Given the description of an element on the screen output the (x, y) to click on. 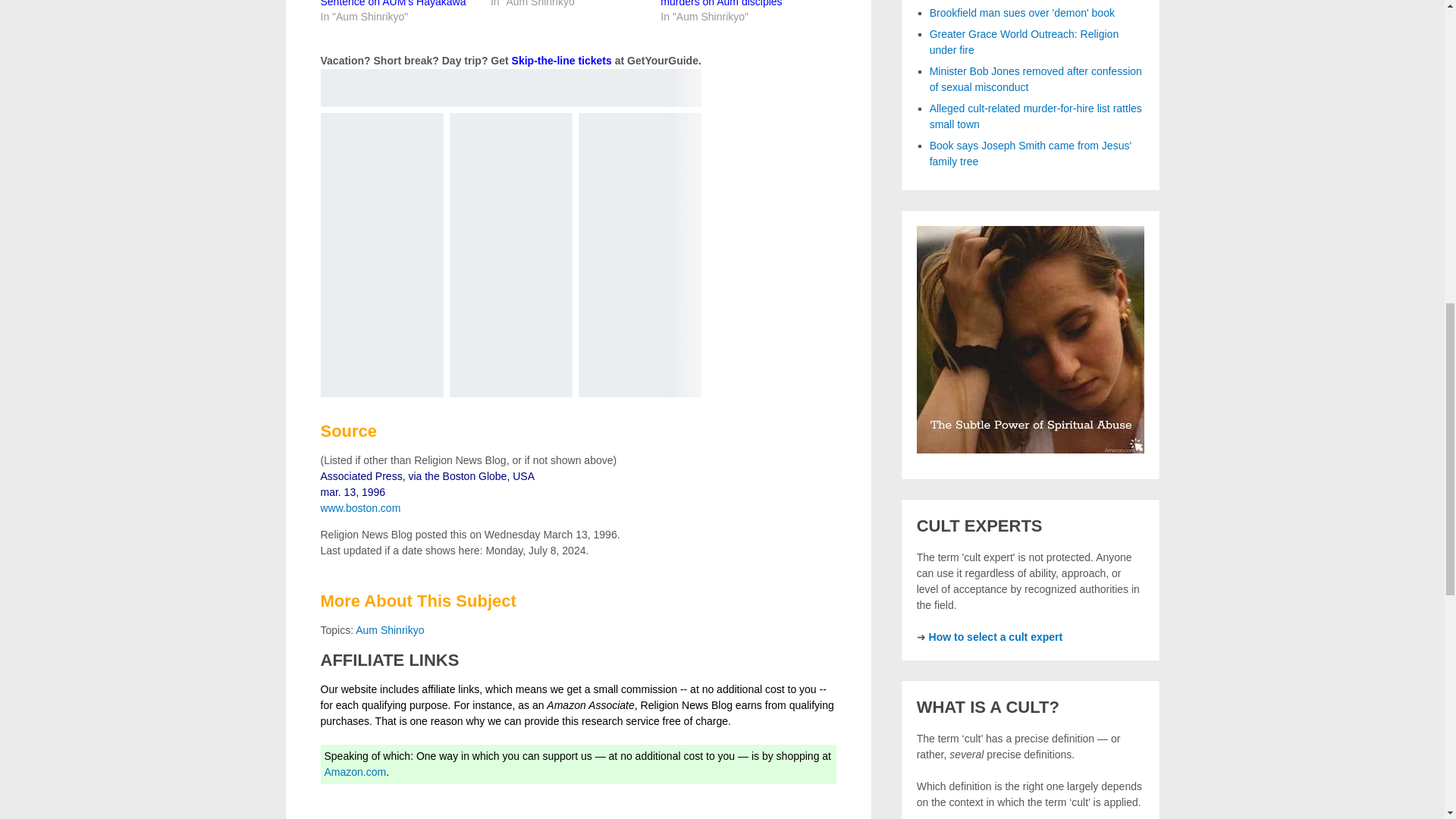
Brookfield man sues over 'demon' book (1022, 12)
GetYourGuide Widget (510, 232)
How to select a cult expert (995, 636)
Amazon.com (355, 771)
Aum Shinrikyo (389, 630)
Skip-the-line tickets (561, 60)
Greater Grace World Outreach: Religion under fire (1024, 41)
www.boston.com (360, 508)
Book says Joseph Smith came from Jesus' family tree (1030, 153)
Alleged cult-related murder-for-hire list rattles small town (1035, 116)
